Given the description of an element on the screen output the (x, y) to click on. 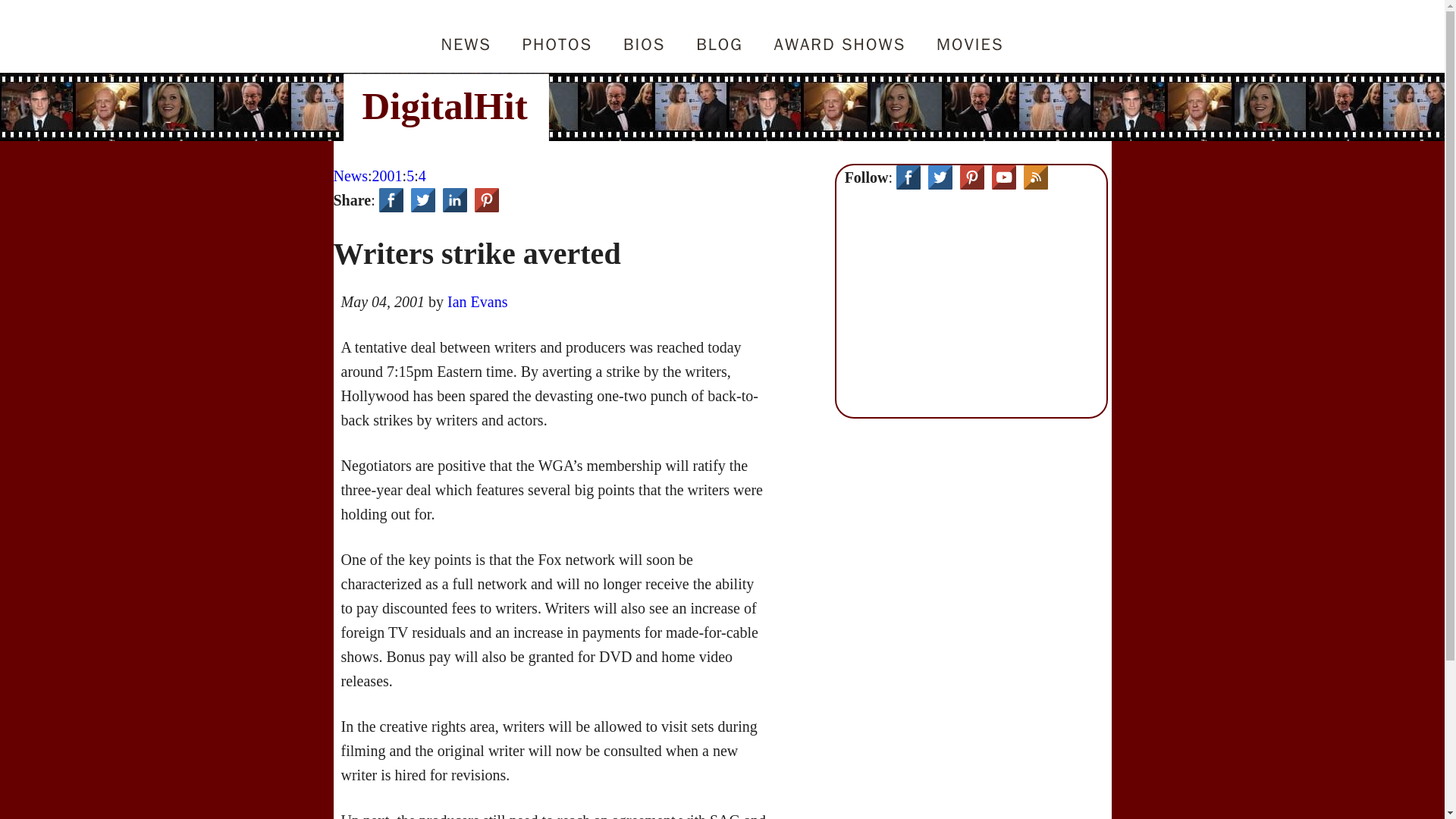
2001 (387, 175)
AWARD SHOWS (839, 32)
PHOTOS (557, 32)
BIOS (644, 32)
BLOG (719, 32)
Ian Evans (476, 301)
Pop culture commentary (719, 32)
